Given the description of an element on the screen output the (x, y) to click on. 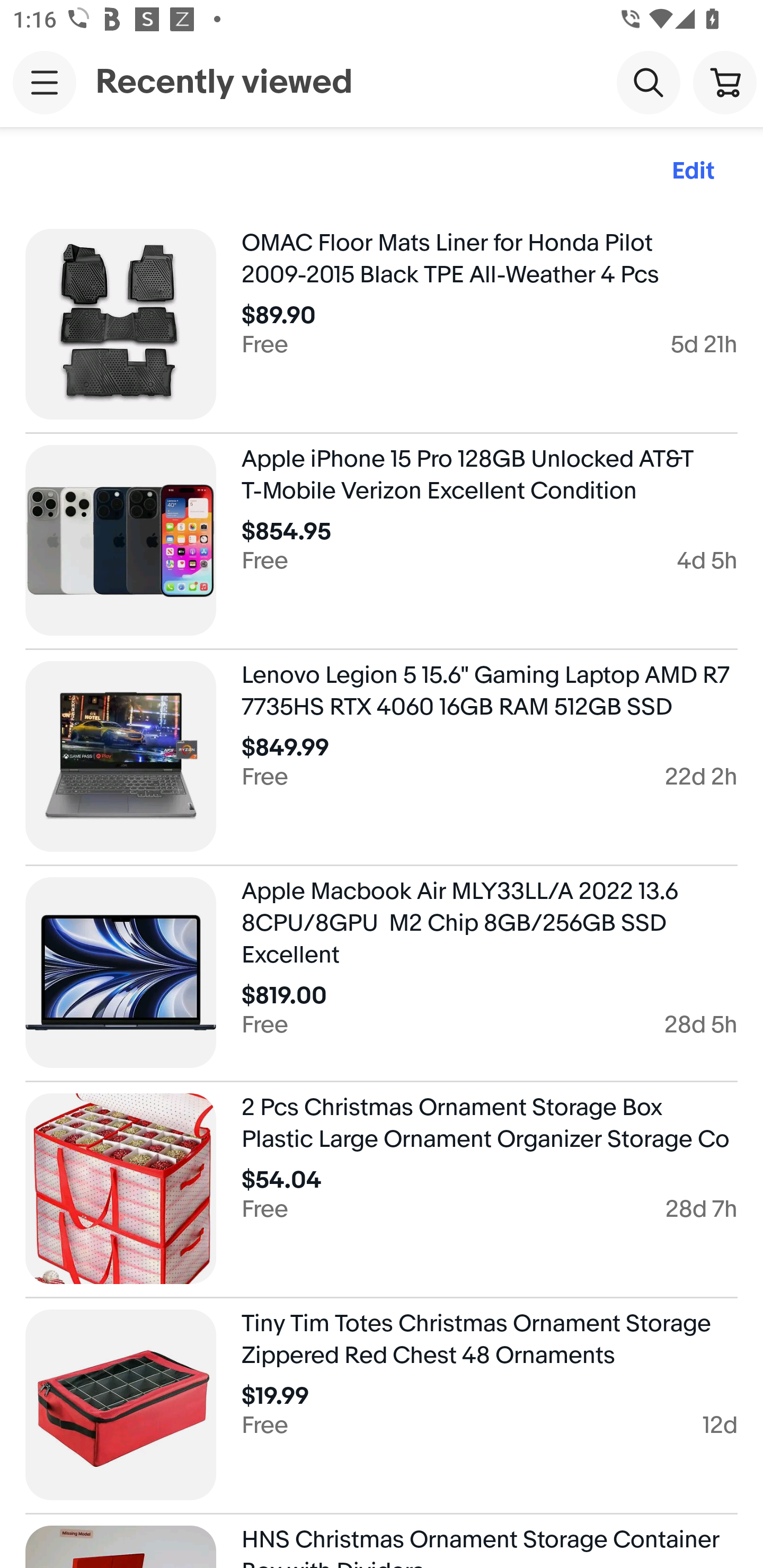
Main navigation, open (44, 82)
Search (648, 81)
Cart button shopping cart (724, 81)
Edit (693, 171)
